Given the description of an element on the screen output the (x, y) to click on. 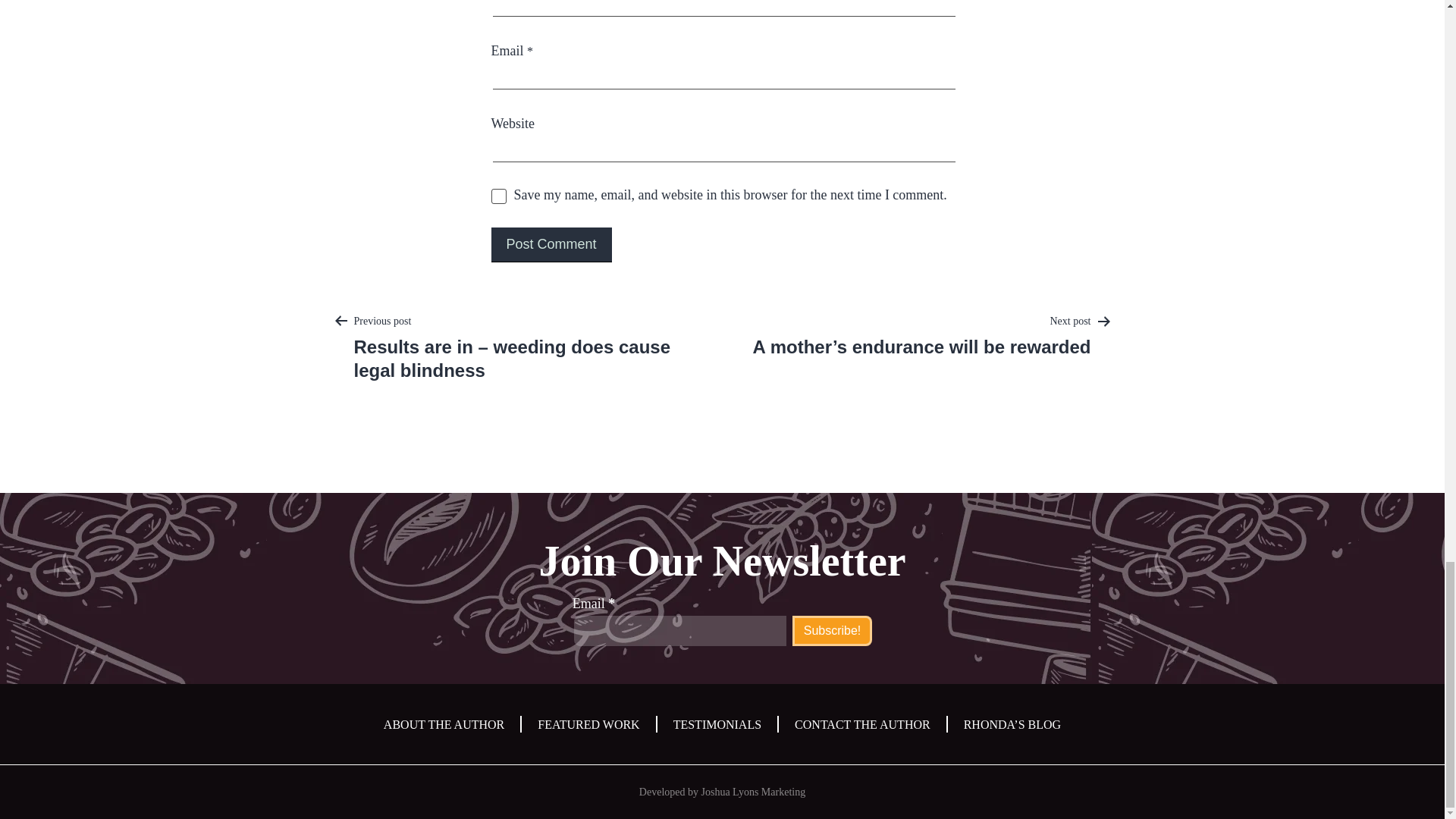
Post Comment (551, 244)
FEATURED WORK (588, 724)
Email (679, 630)
Joshua Lyons Marketing (752, 791)
yes (499, 196)
Subscribe! (832, 630)
ABOUT THE AUTHOR (443, 724)
Subscribe! (832, 630)
Post Comment (551, 244)
TESTIMONIALS (716, 724)
CONTACT THE AUTHOR (862, 724)
